Given the description of an element on the screen output the (x, y) to click on. 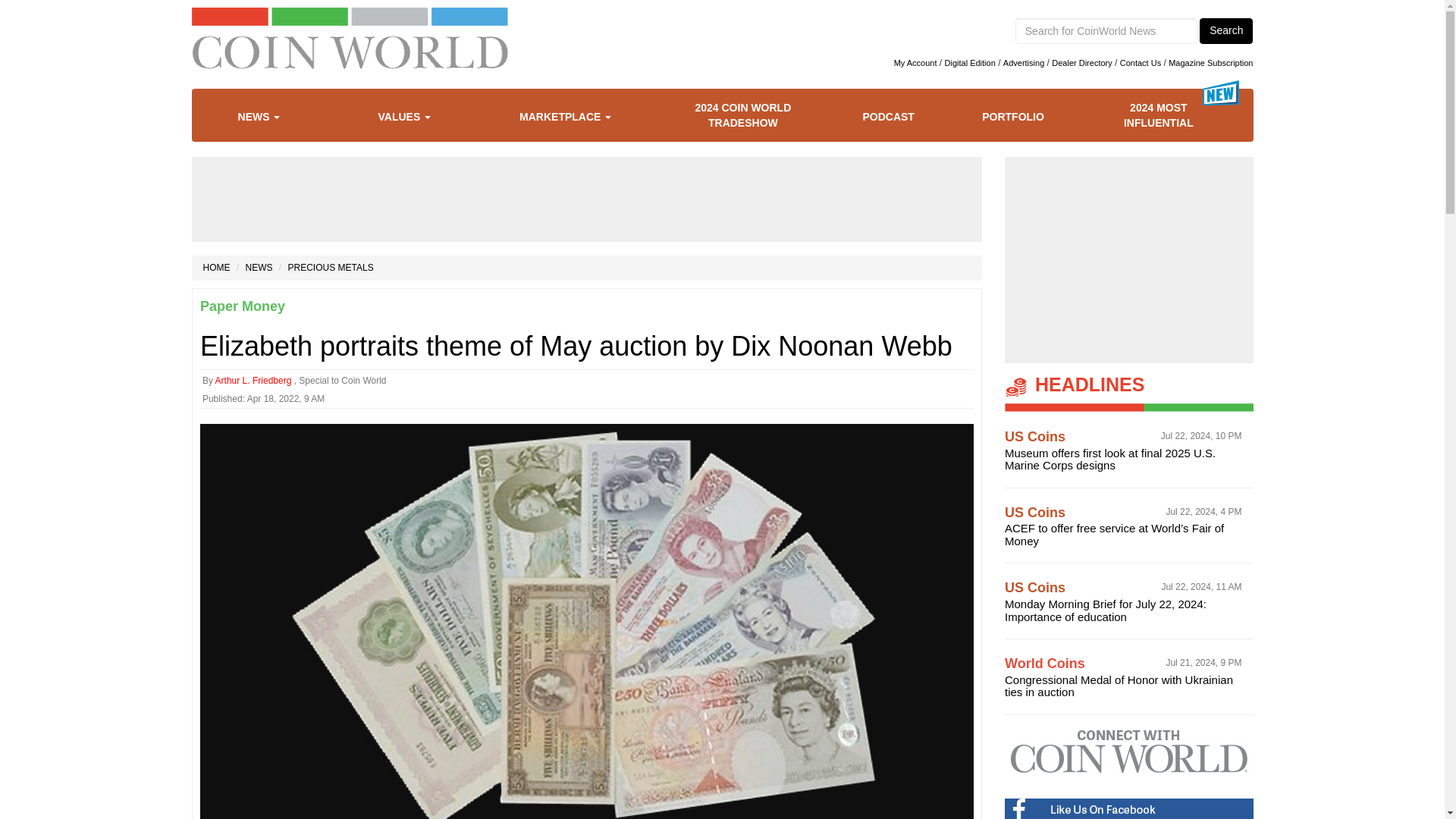
VALUES (416, 116)
Digital Edition (969, 62)
Search input (1105, 31)
My Account (915, 62)
logo-desktop (348, 53)
Magazine Subscription (1210, 62)
Dealer Directory (1081, 62)
Advertising (1023, 62)
NEWS (270, 116)
Contact Us (1139, 62)
nav-colorbars (348, 16)
3rd party ad content (1128, 259)
Search (1225, 31)
3rd party ad content (587, 199)
